Given the description of an element on the screen output the (x, y) to click on. 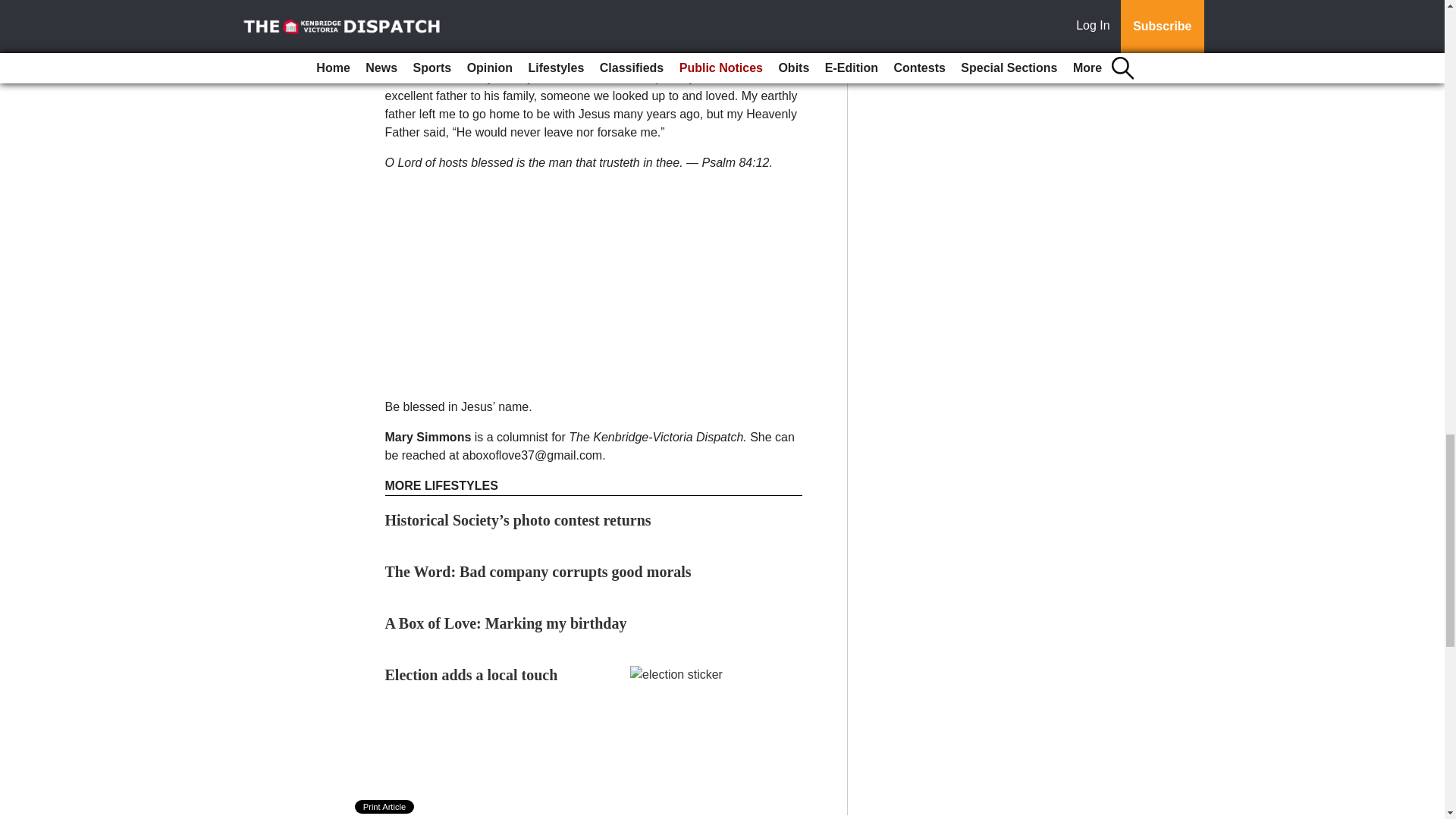
The Word: Bad company corrupts good morals (538, 571)
Election adds a local touch (471, 674)
A Box of Love: Marking my birthday (506, 623)
A Box of Love: Marking my birthday (506, 623)
Print Article (384, 807)
The Word: Bad company corrupts good morals (538, 571)
Election adds a local touch (471, 674)
